Given the description of an element on the screen output the (x, y) to click on. 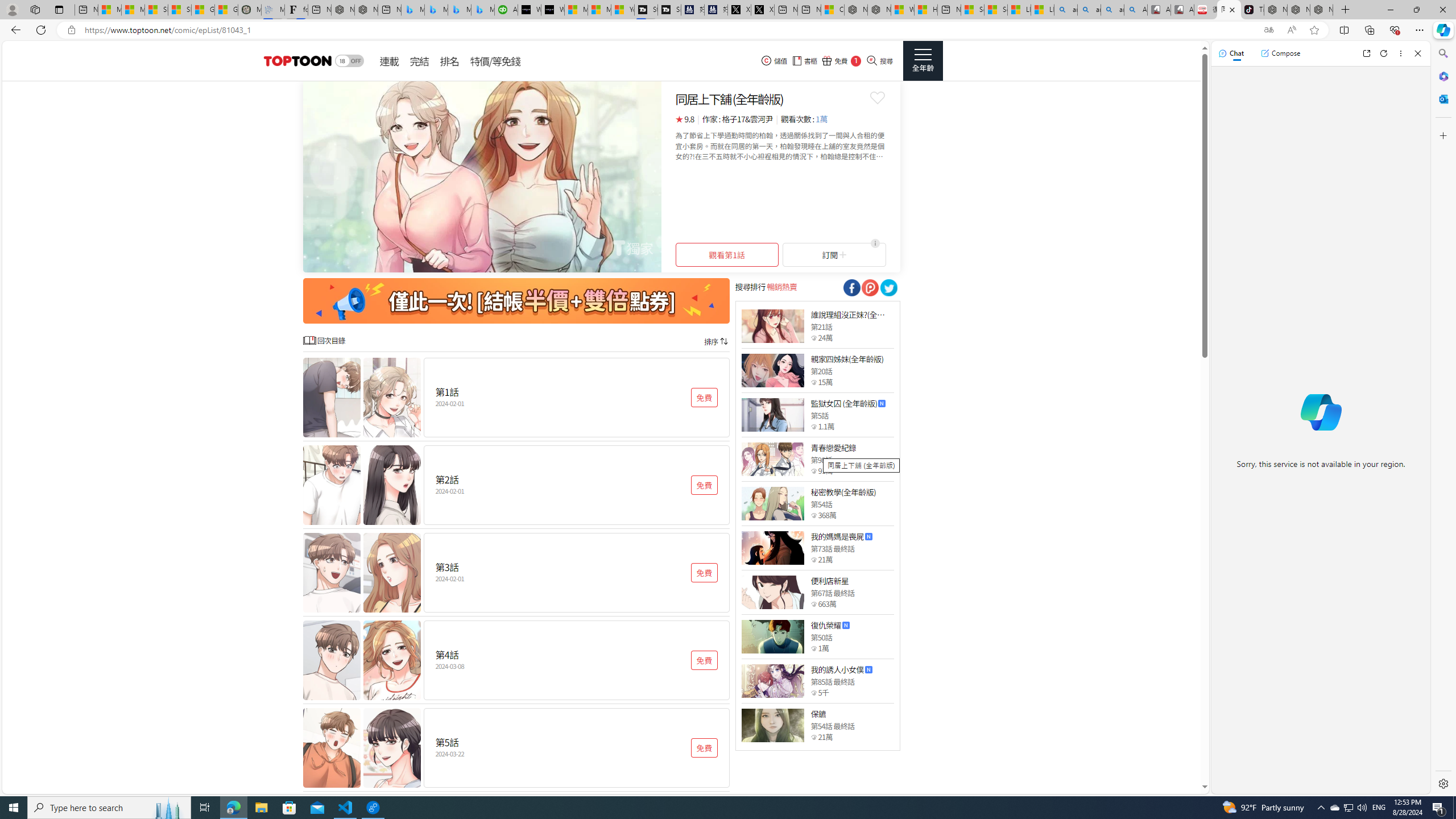
Accounting Software for Accountants, CPAs and Bookkeepers (505, 9)
